Given the description of an element on the screen output the (x, y) to click on. 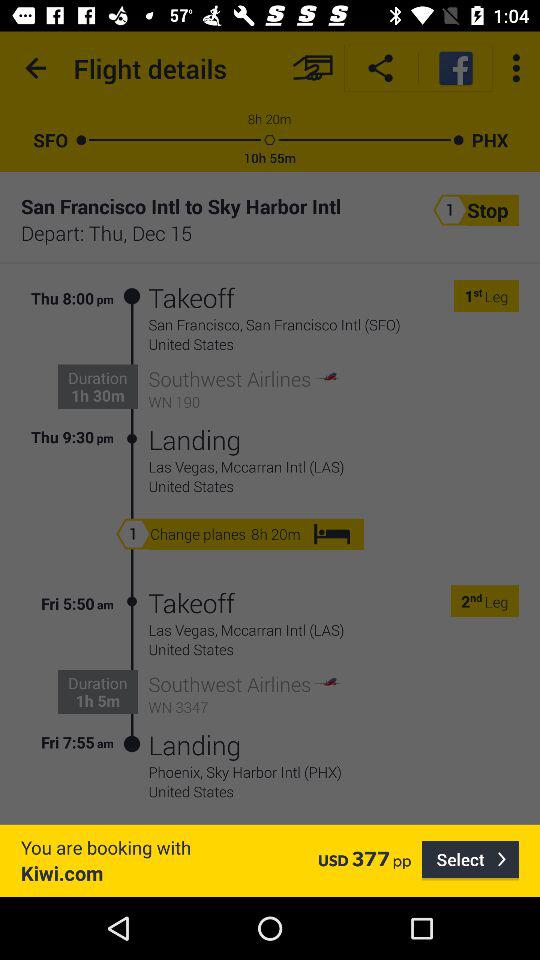
turn off the item next to the leg item (477, 295)
